Given the description of an element on the screen output the (x, y) to click on. 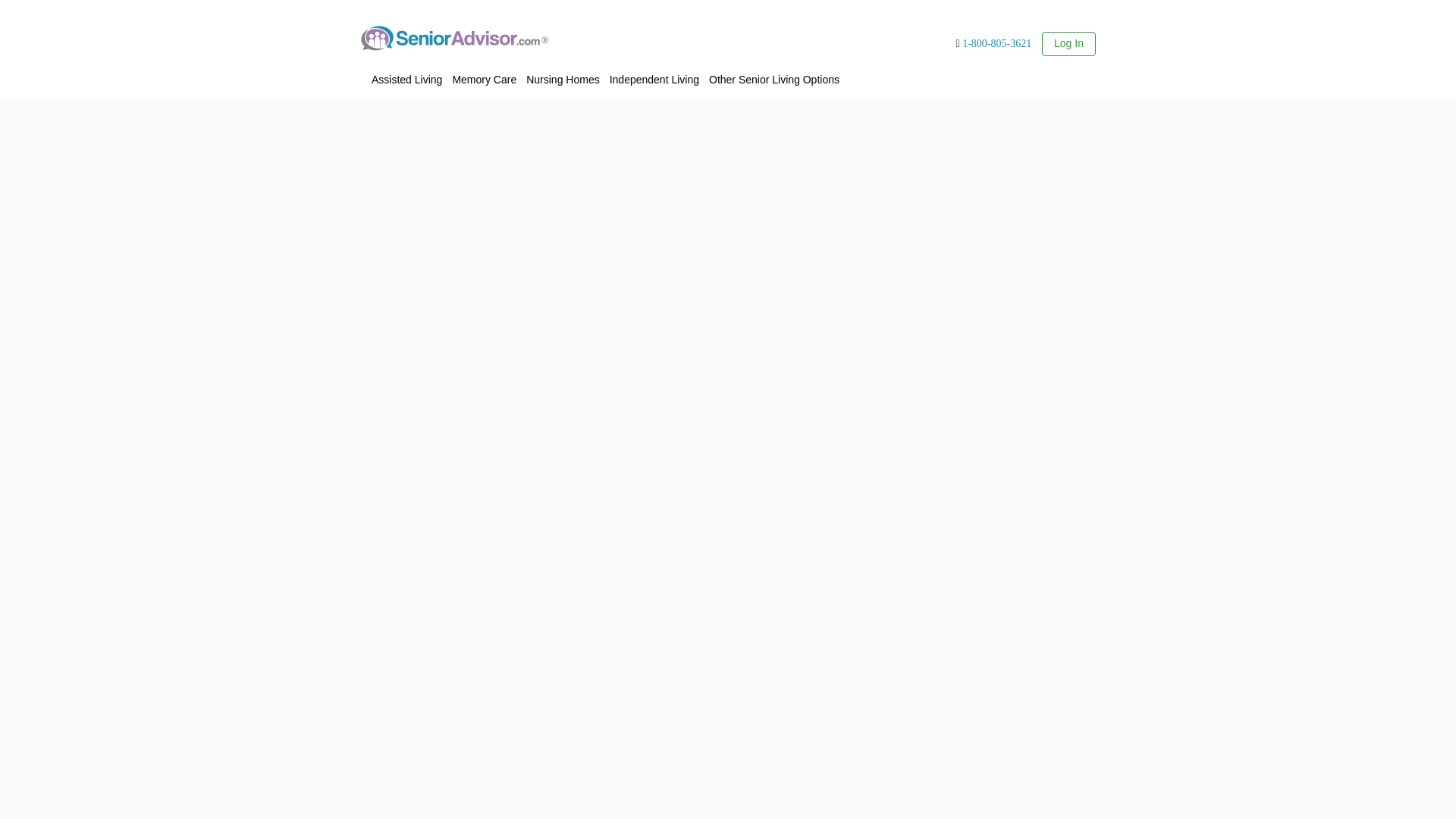
Assisted Living (406, 76)
Memory Care (1068, 42)
1-800-805-3621 (483, 76)
Independent Living (996, 43)
Other Senior Living Options (654, 76)
Nursing Homes (774, 76)
